Given the description of an element on the screen output the (x, y) to click on. 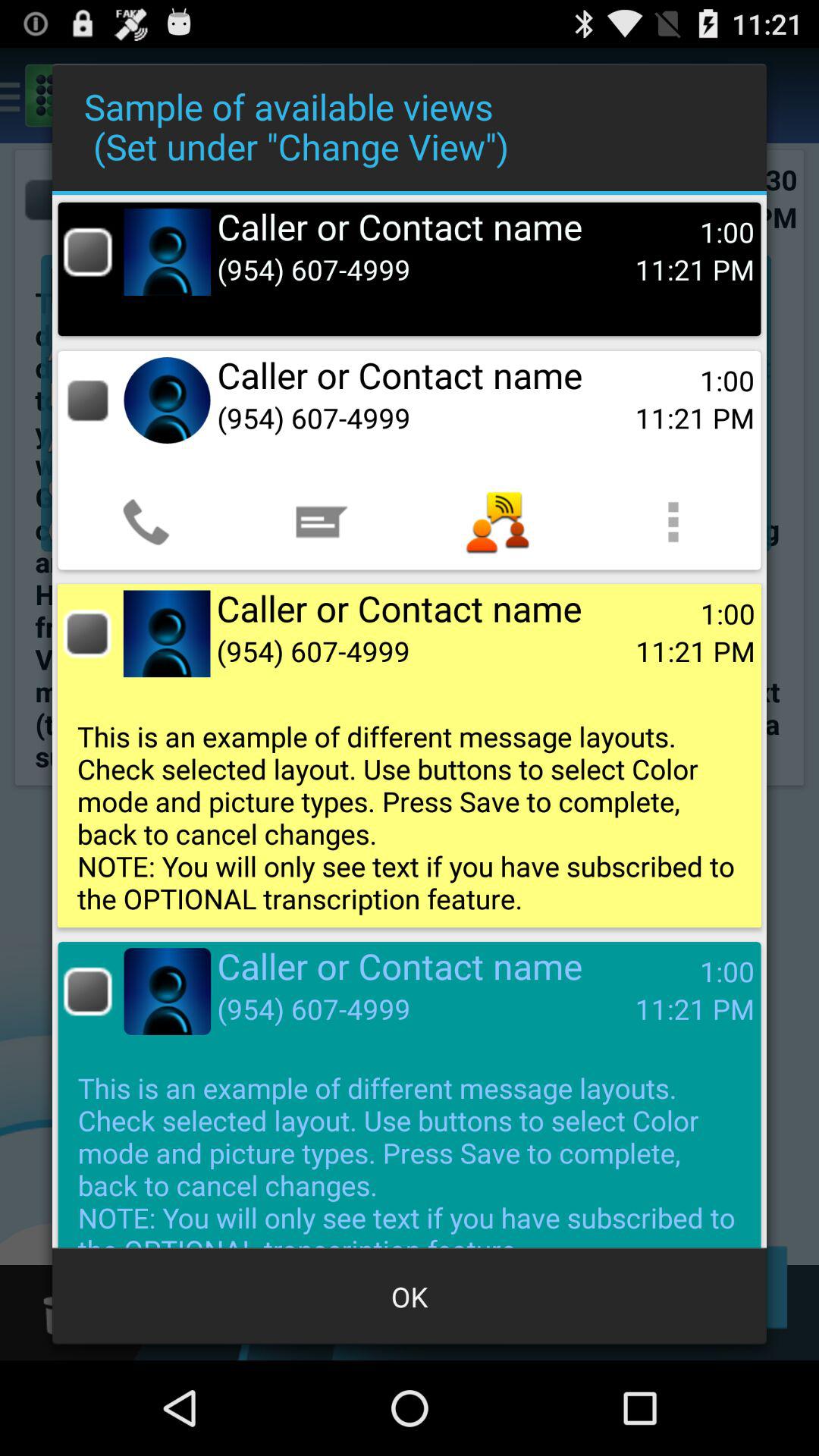
select this specific caller (87, 633)
